Given the description of an element on the screen output the (x, y) to click on. 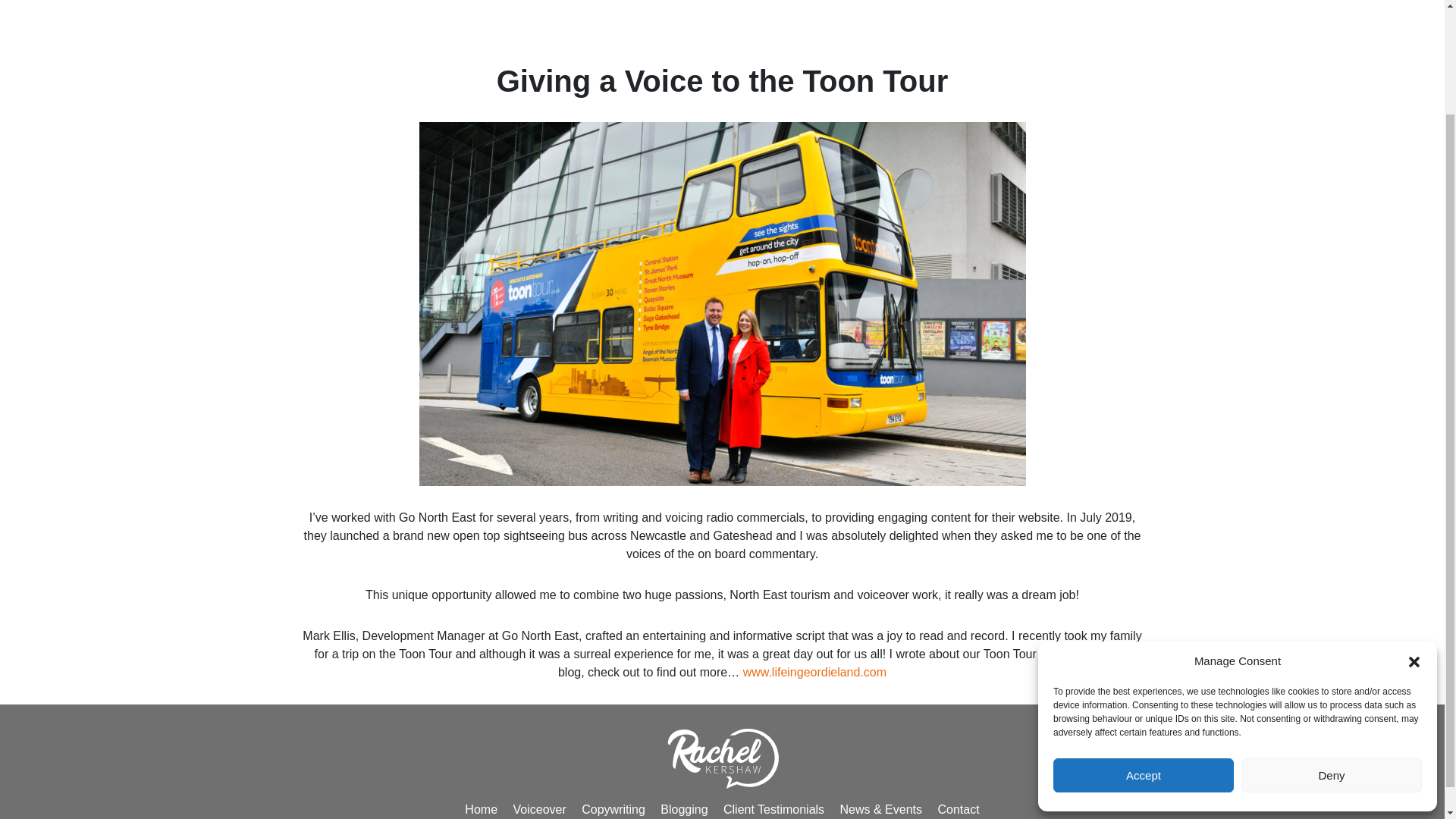
Blogging (684, 809)
Accept (1142, 649)
Home (480, 809)
Voiceover (539, 809)
Deny (1331, 649)
Contact (957, 809)
Copywriting (612, 809)
Client Testimonials (773, 809)
www.lifeingeordieland.com (814, 671)
